Given the description of an element on the screen output the (x, y) to click on. 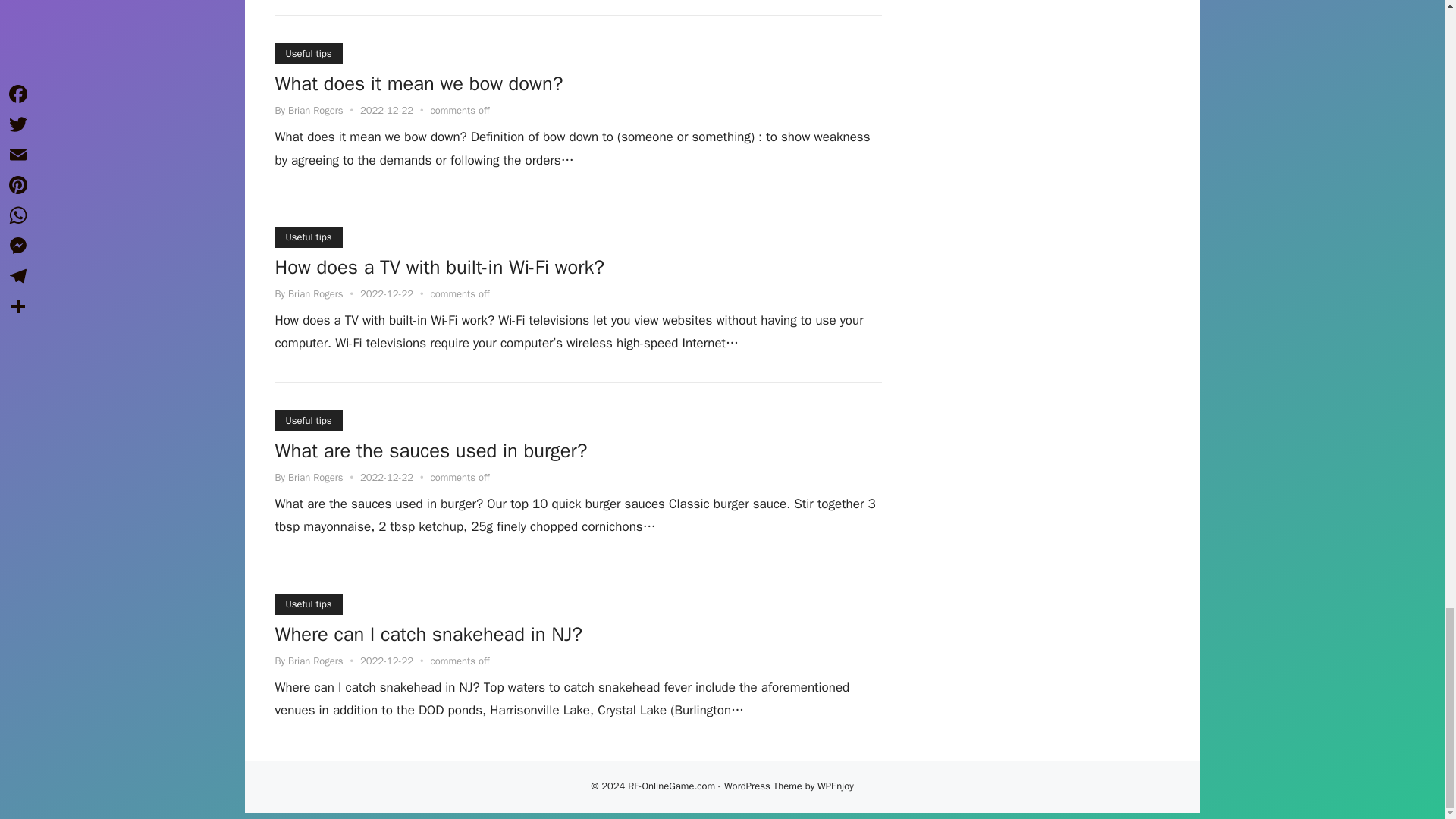
Posts by Brian Rogers (315, 293)
Posts by Brian Rogers (315, 660)
Posts by Brian Rogers (315, 477)
Posts by Brian Rogers (315, 110)
